Given the description of an element on the screen output the (x, y) to click on. 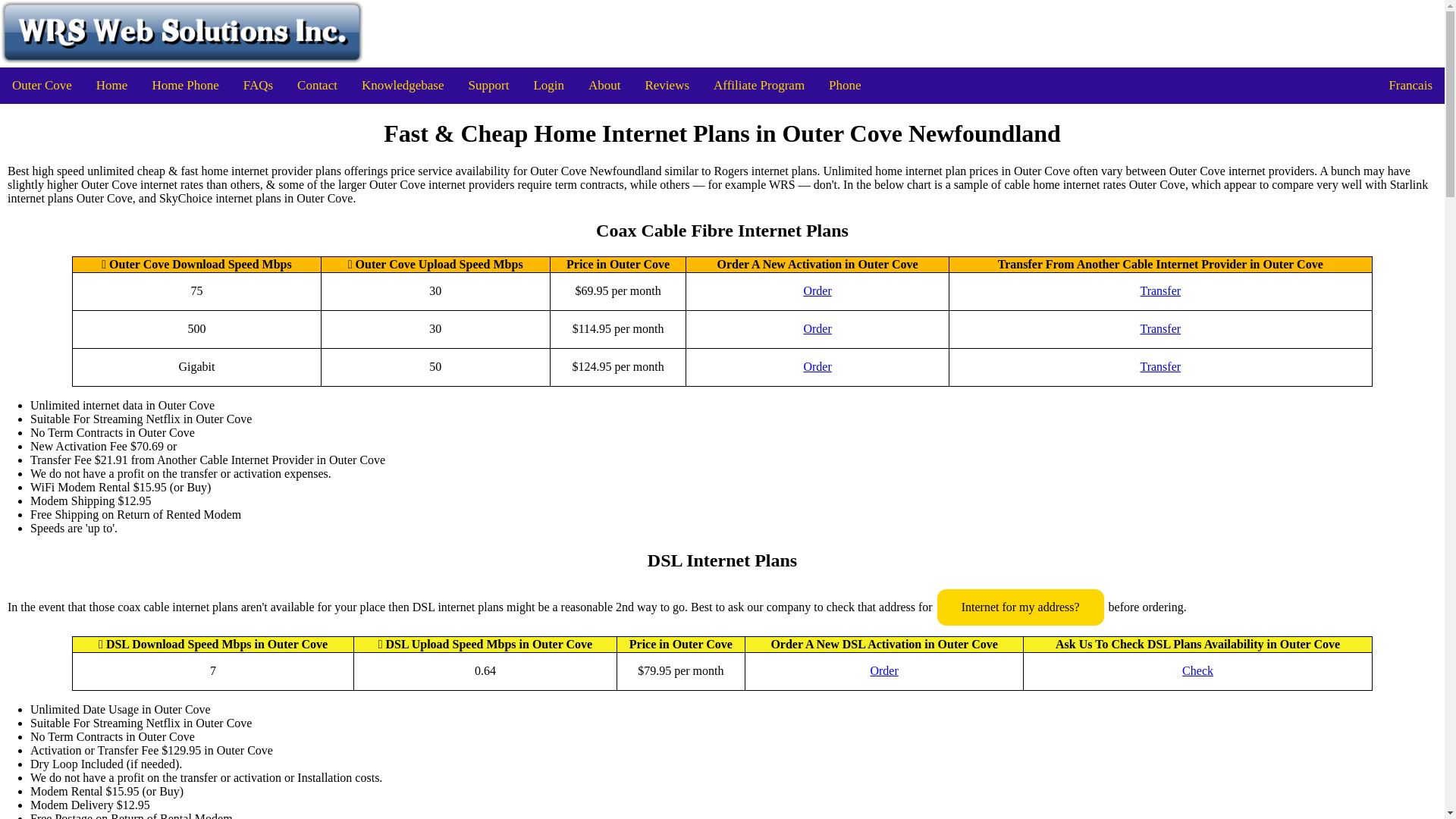
Knowledgebase (403, 85)
Order (817, 328)
Transfer (1160, 366)
Login (548, 85)
About (604, 85)
Reviews (666, 85)
Transfer (1160, 291)
Order (817, 366)
Support (489, 85)
FAQs (258, 85)
